Given the description of an element on the screen output the (x, y) to click on. 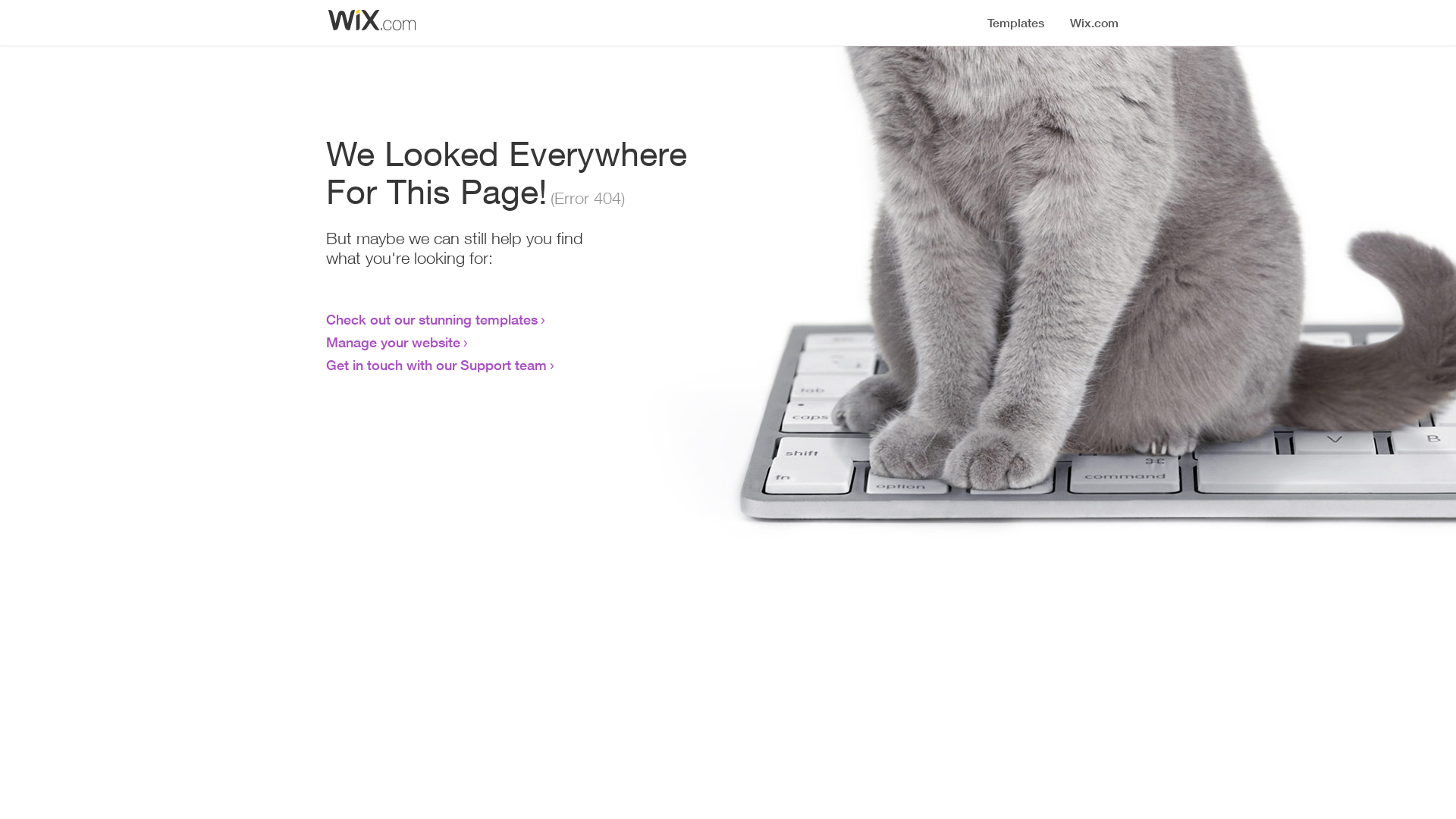
Check out our stunning templates Element type: text (431, 318)
Manage your website Element type: text (393, 341)
Get in touch with our Support team Element type: text (436, 364)
